Given the description of an element on the screen output the (x, y) to click on. 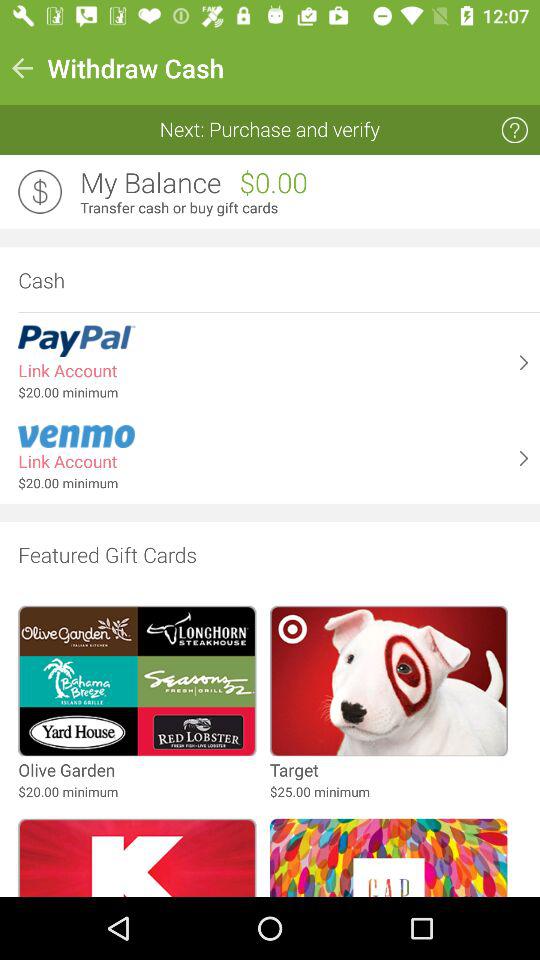
tap item next to the my balance icon (39, 191)
